Given the description of an element on the screen output the (x, y) to click on. 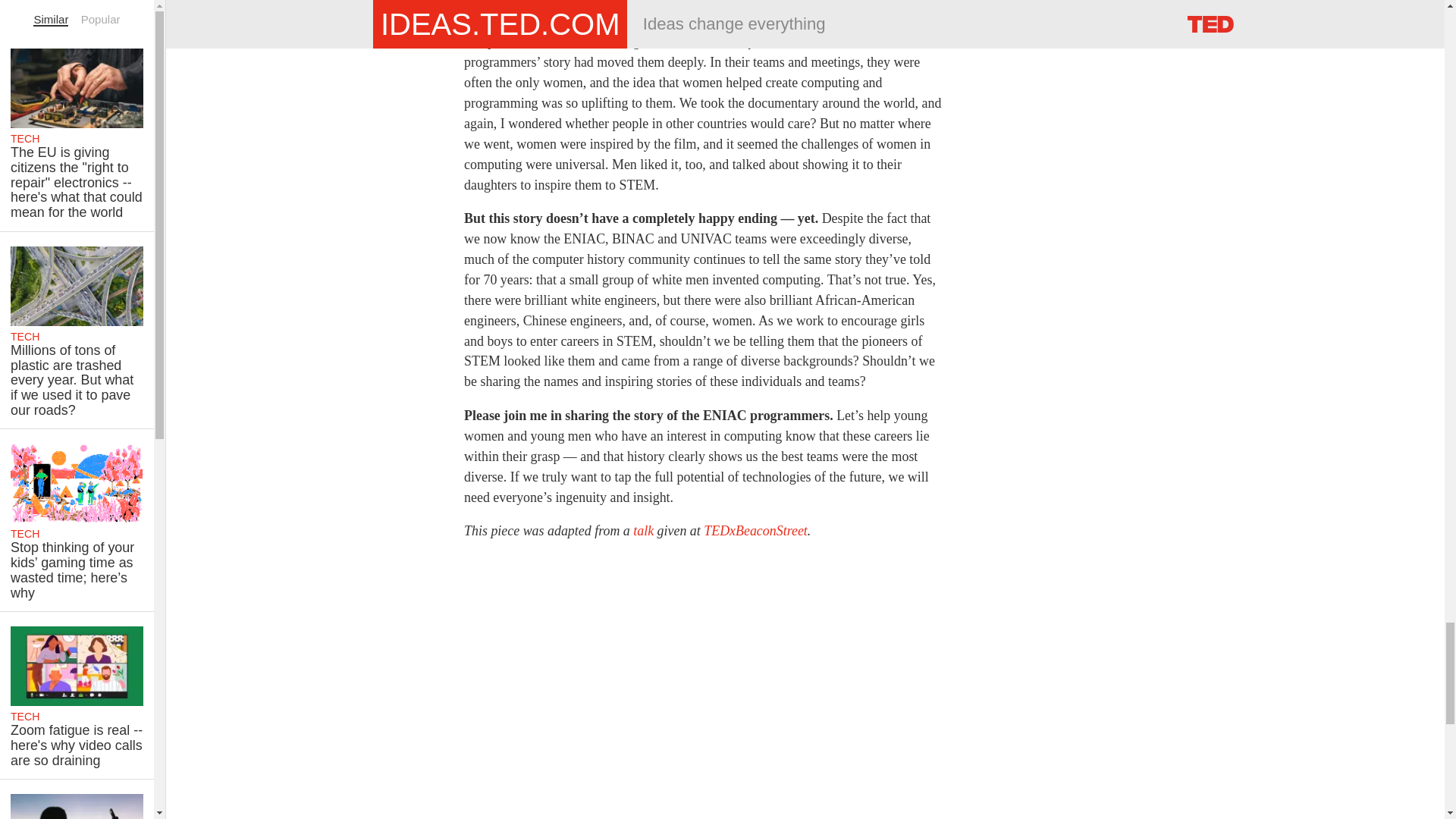
TEDxBeaconStreet (755, 530)
talk (643, 530)
